Given the description of an element on the screen output the (x, y) to click on. 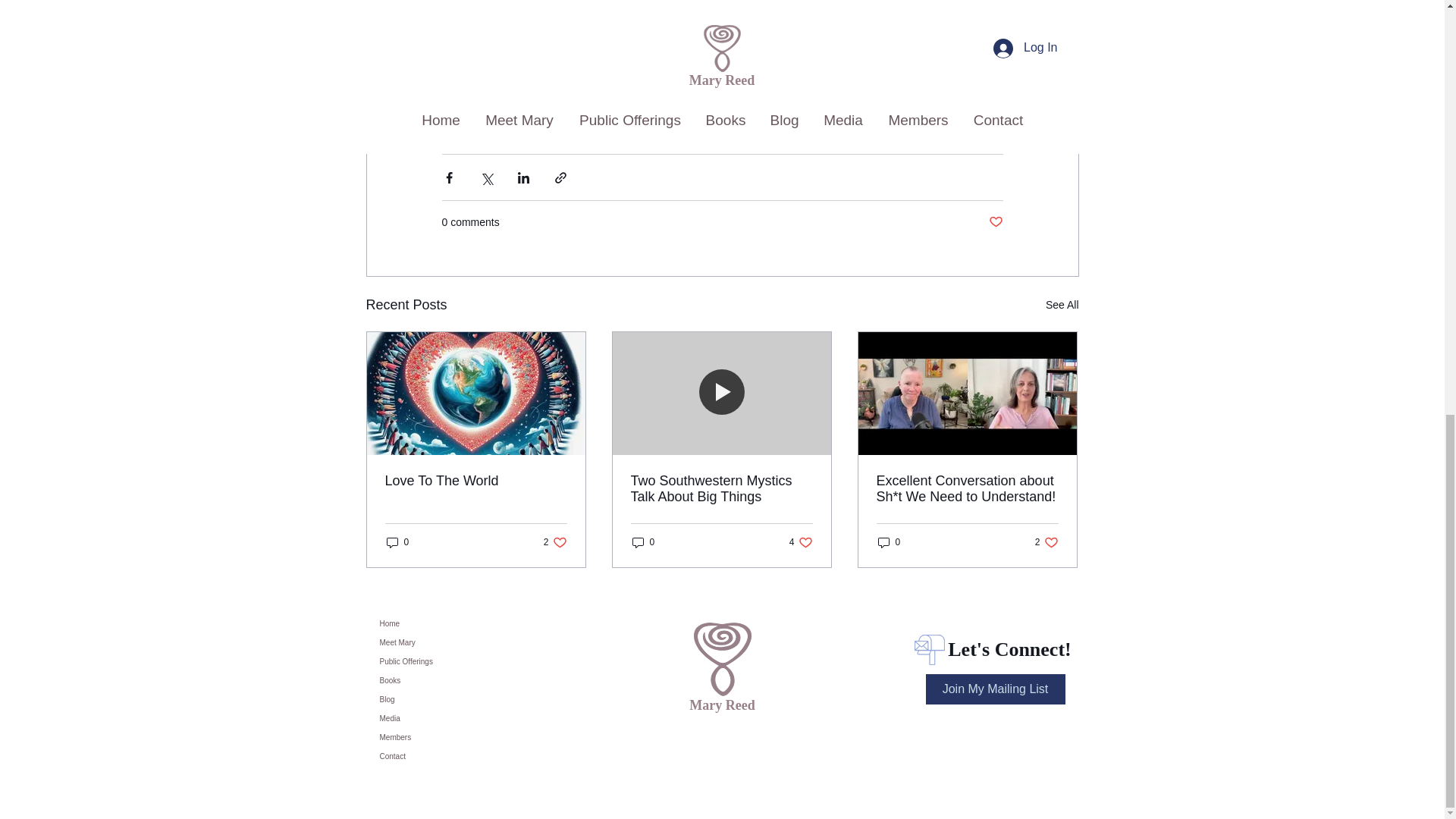
Post not marked as liked (995, 222)
Love To The World (476, 480)
Public Offerings (438, 660)
Contact (438, 755)
Books (800, 542)
Media (438, 680)
Two Southwestern Mystics Talk About Big Things (438, 718)
